Given the description of an element on the screen output the (x, y) to click on. 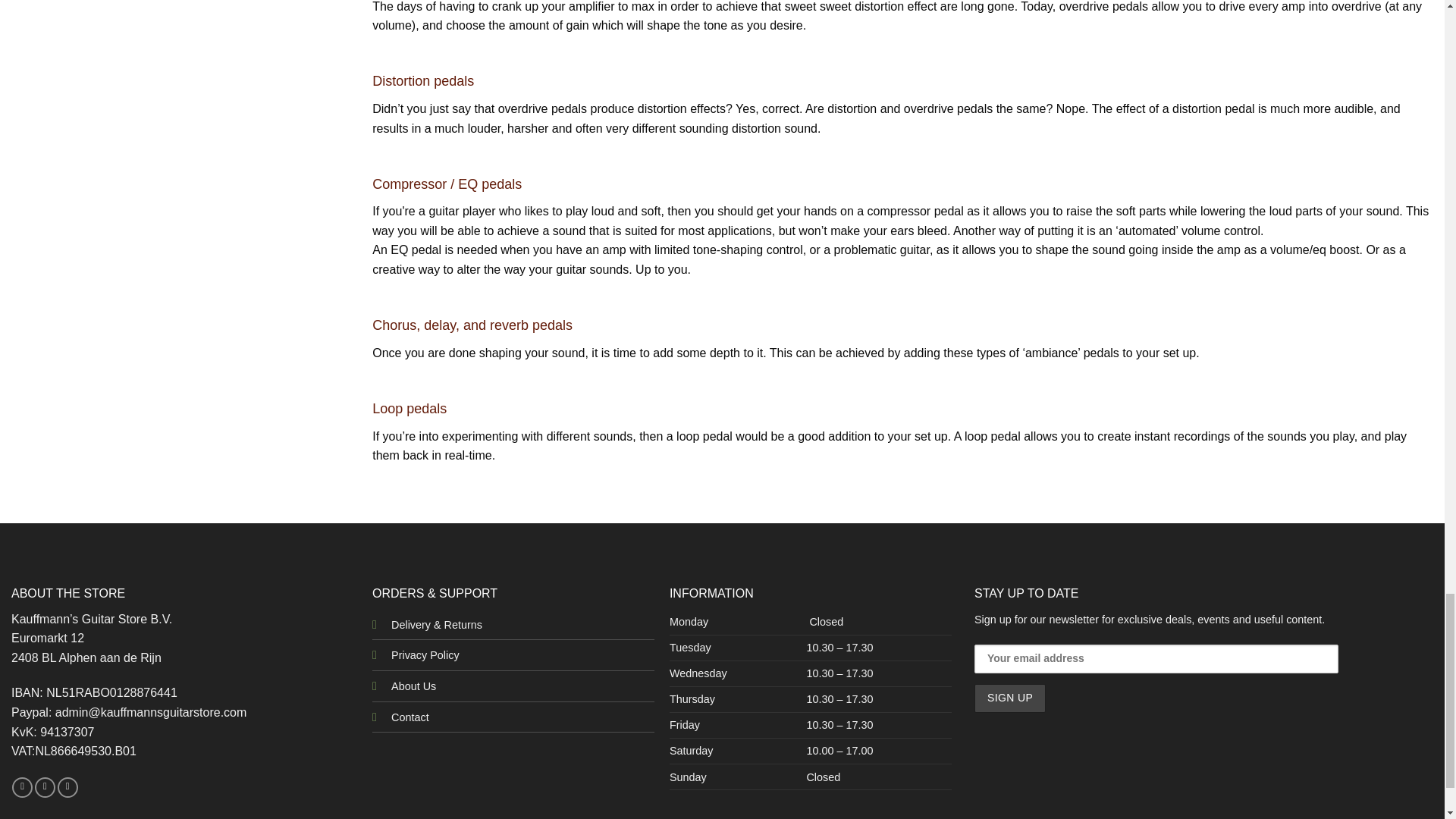
Sign up (1009, 697)
